Given the description of an element on the screen output the (x, y) to click on. 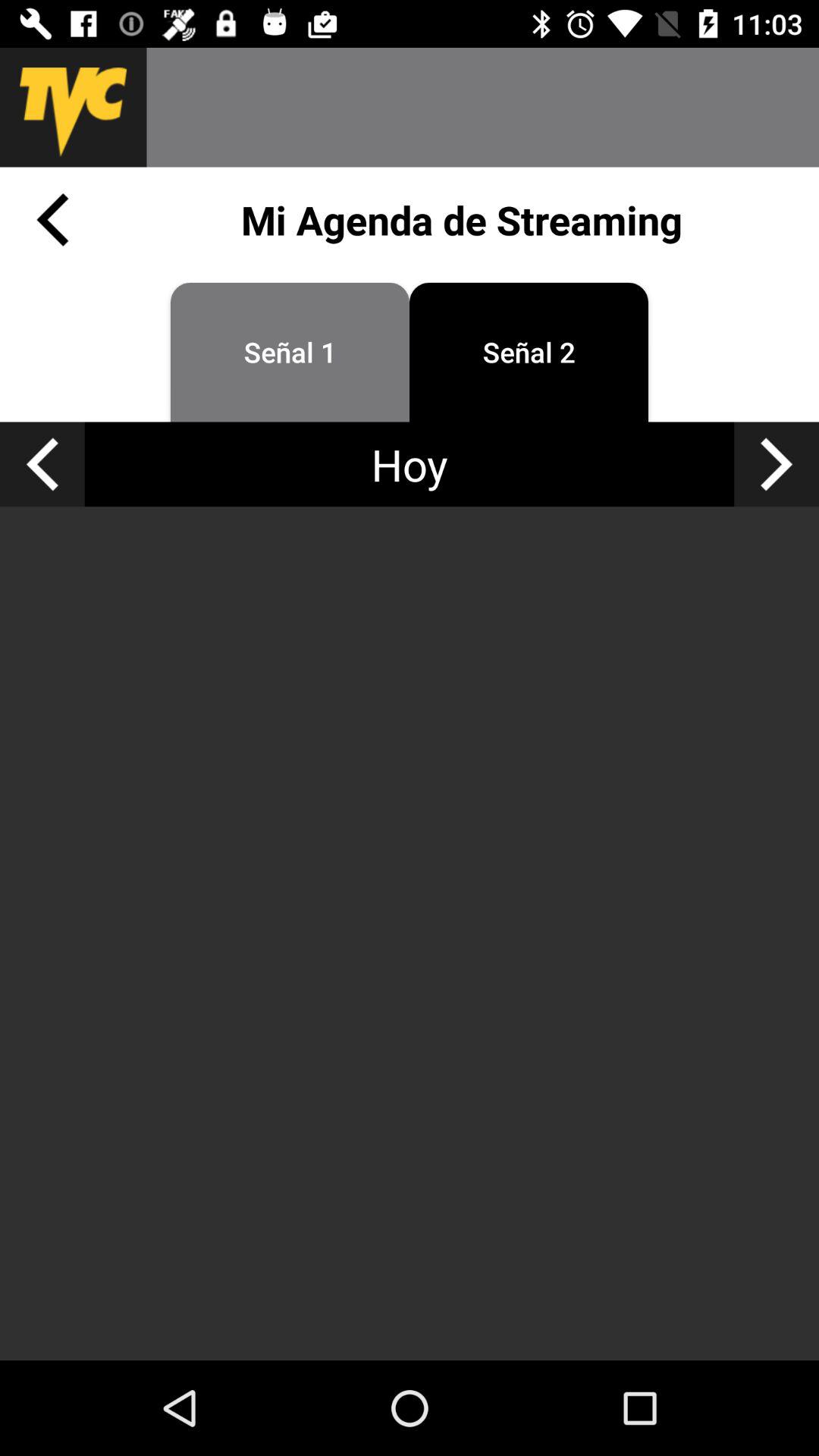
tap the item below the mi agenda de (289, 352)
